Given the description of an element on the screen output the (x, y) to click on. 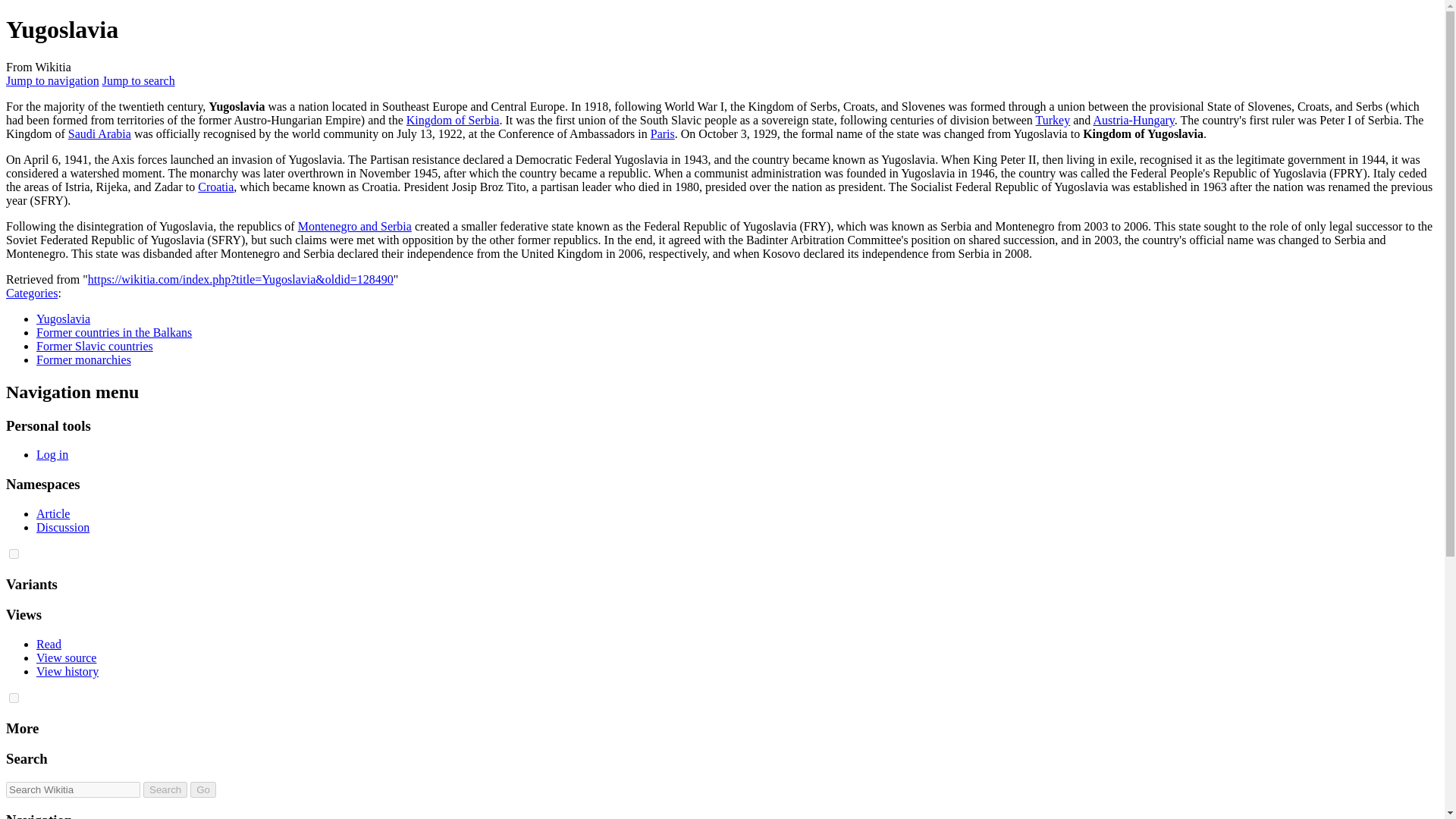
Read (48, 644)
Search (164, 789)
Austria-Hungary (1133, 119)
Yugoslavia (63, 318)
Categories (31, 292)
Saudi Arabia (99, 133)
Go (202, 789)
Search (164, 789)
Category:Former Slavic countries (94, 345)
Category:Former monarchies (83, 359)
Turkey (1052, 119)
Go (202, 789)
Saudi Arabia (99, 133)
Special:Categories (31, 292)
Discussion (62, 526)
